Given the description of an element on the screen output the (x, y) to click on. 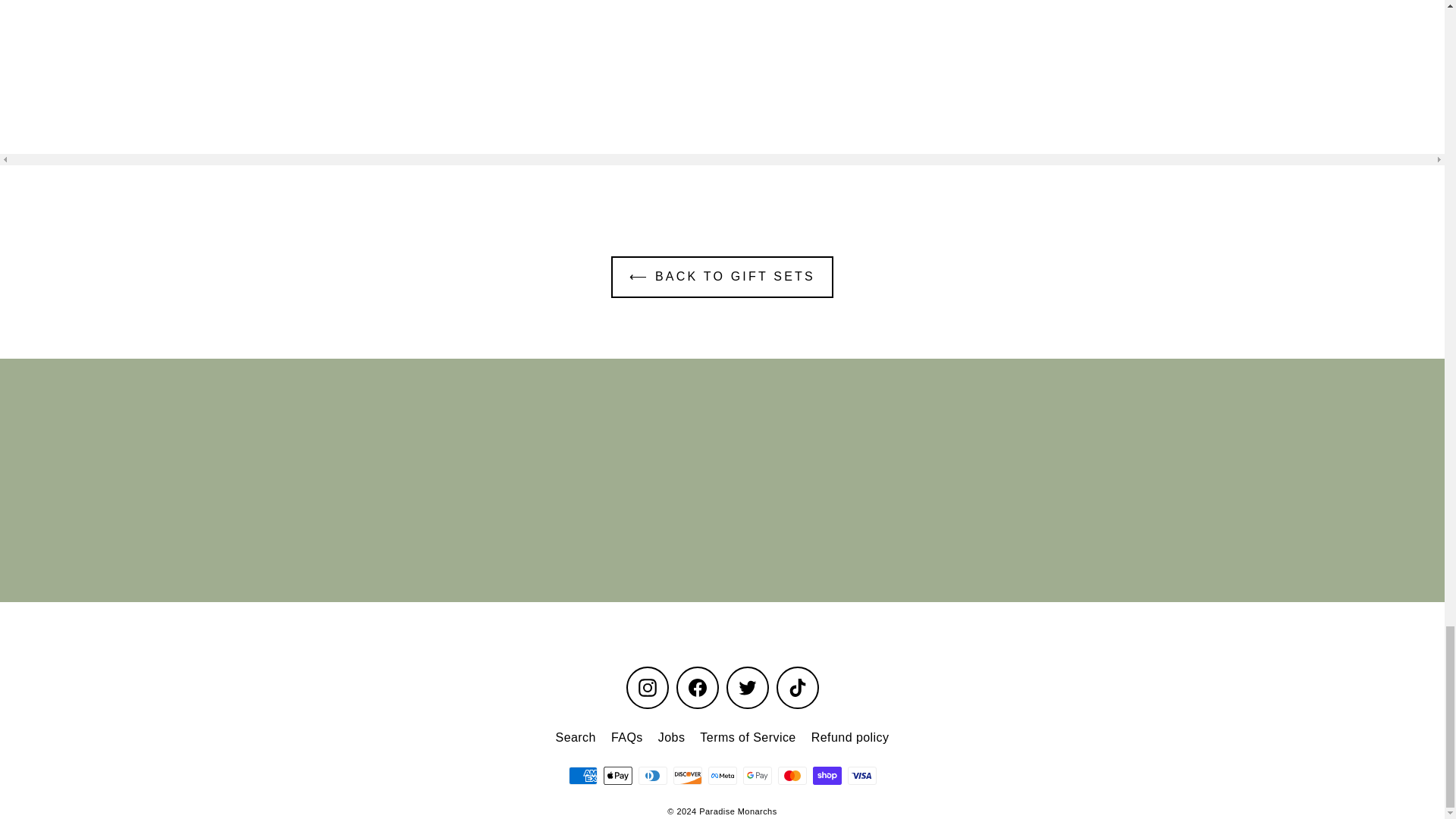
Paradise Monarchs on Facebook (698, 687)
Paradise Monarchs on Twitter (747, 687)
Paradise Monarchs on Instagram (647, 687)
Paradise Monarchs on TikTok (797, 687)
